Given the description of an element on the screen output the (x, y) to click on. 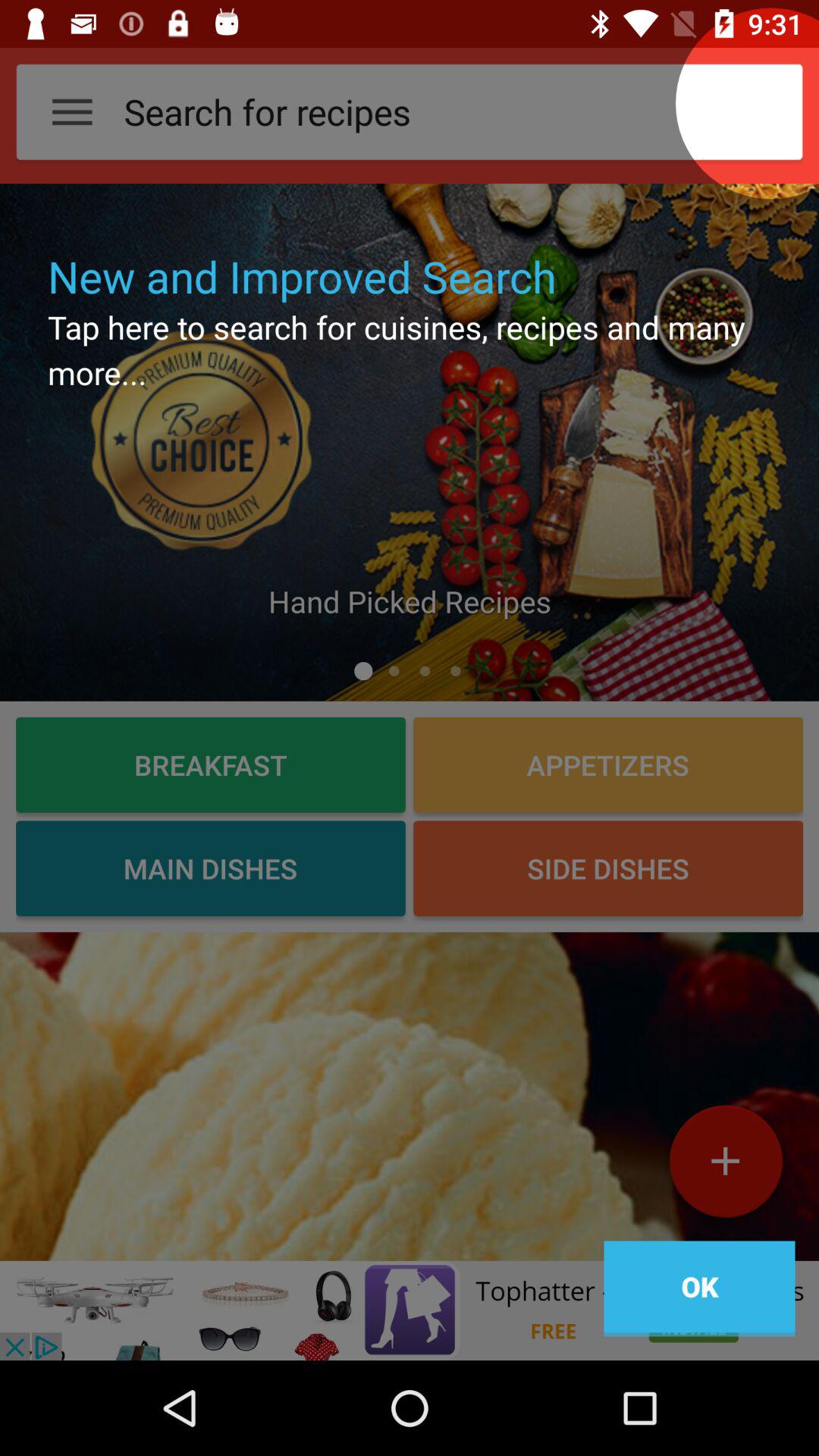
add the recepie (725, 1167)
